Given the description of an element on the screen output the (x, y) to click on. 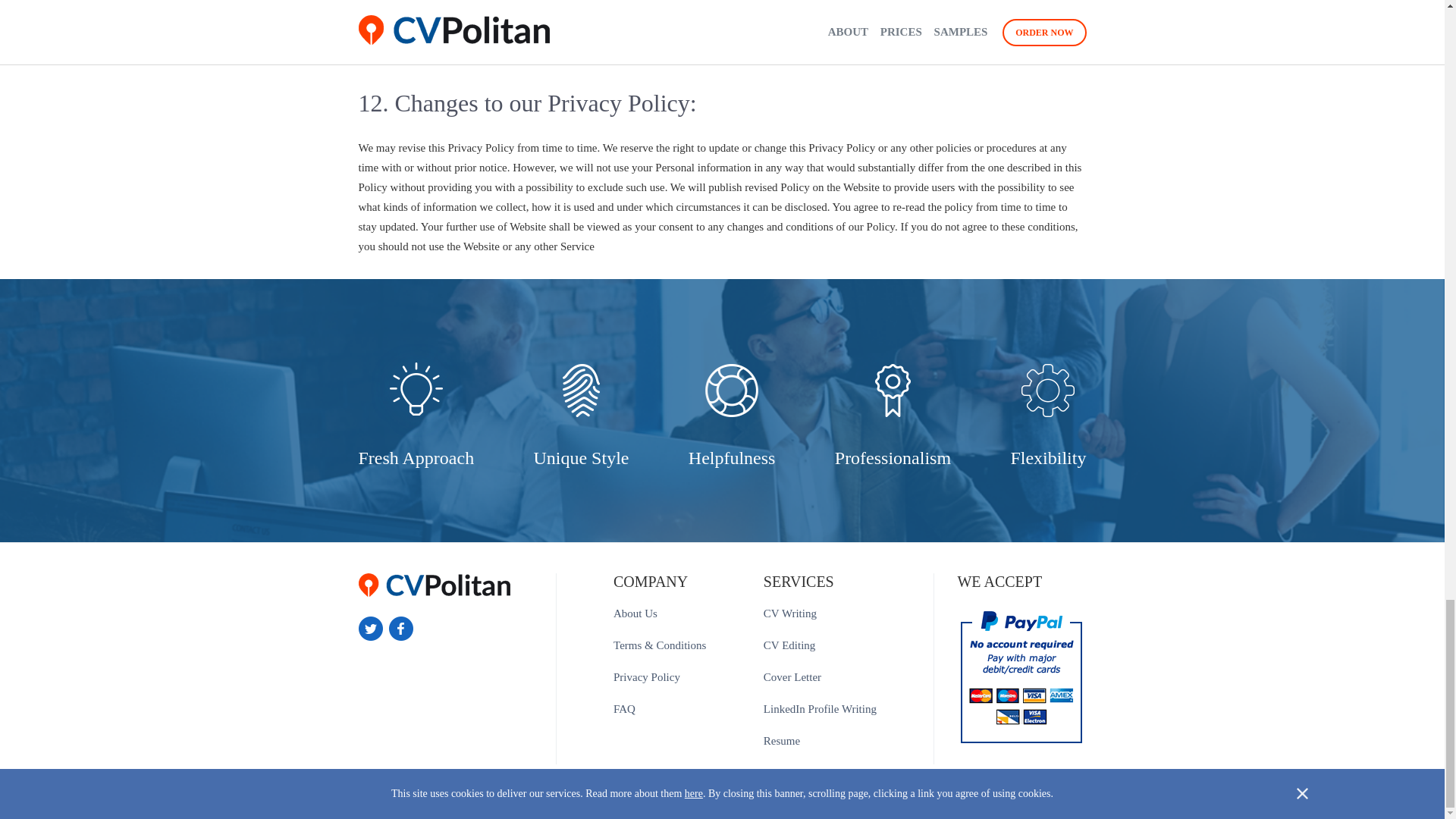
Privacy Policy (645, 676)
LinkedIn Profile Writing (819, 708)
FAQ (623, 708)
CV Editing (788, 645)
Cover Letter (791, 676)
About Us (635, 613)
Resume (780, 740)
CV Writing (789, 613)
